Given the description of an element on the screen output the (x, y) to click on. 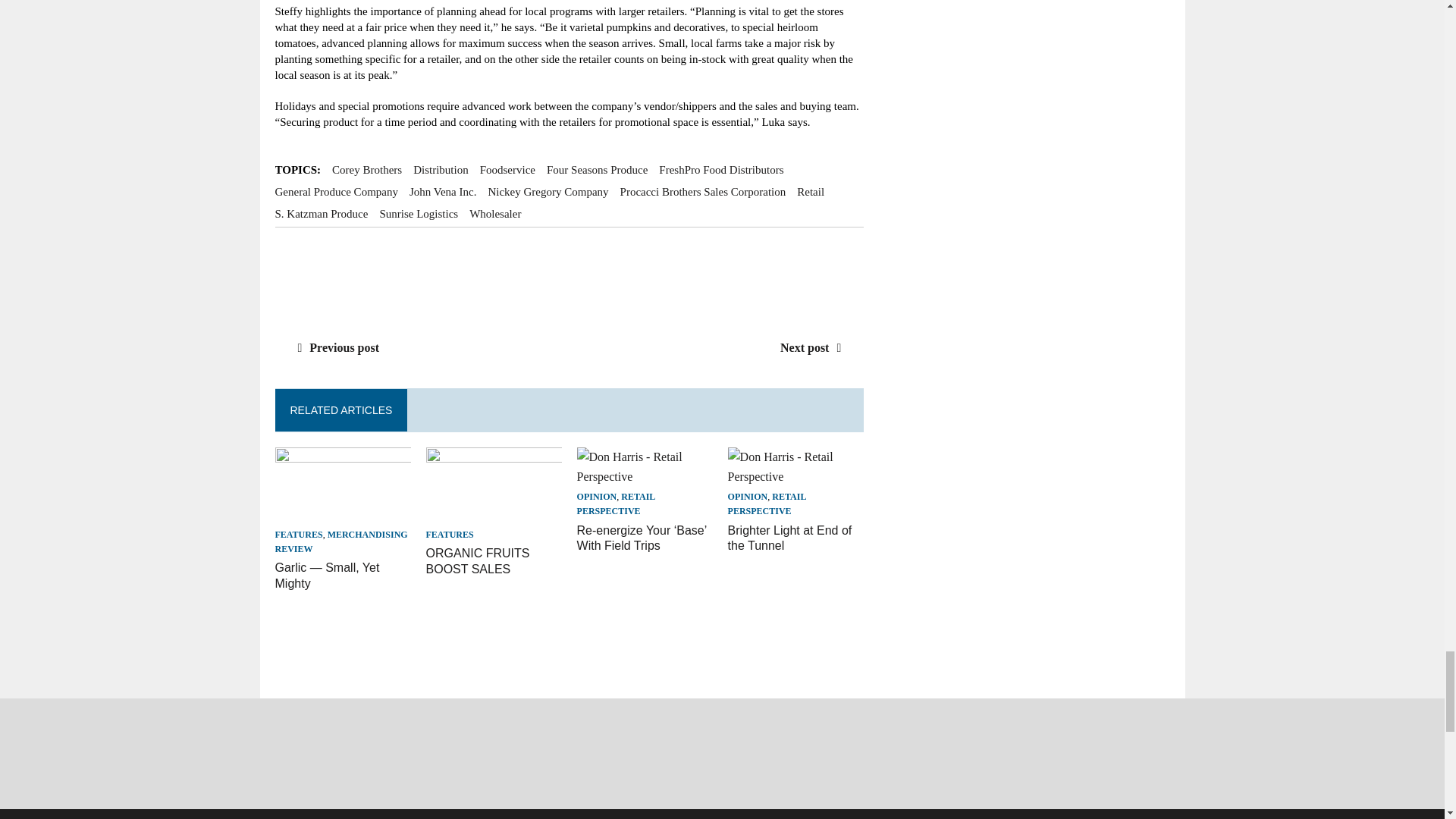
Brighter Light at End of the Tunnel (789, 538)
3rd party ad content (551, 649)
3rd party ad content (569, 276)
Brighter Light at End of the Tunnel (796, 476)
ORGANIC FRUITS BOOST SALES (477, 561)
ORGANIC FRUITS BOOST SALES (494, 513)
